Given the description of an element on the screen output the (x, y) to click on. 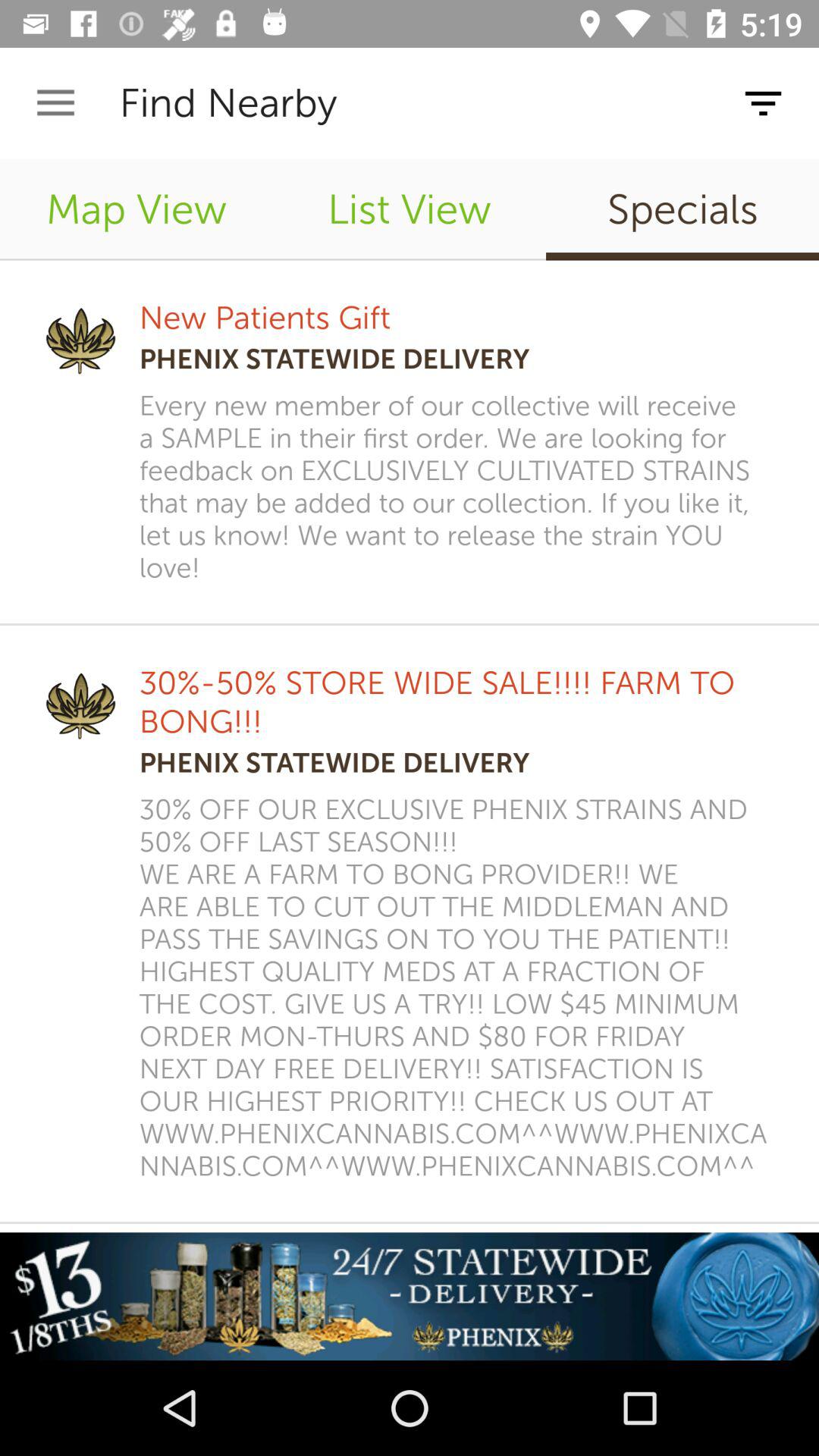
choose item to the right of map view item (409, 209)
